Given the description of an element on the screen output the (x, y) to click on. 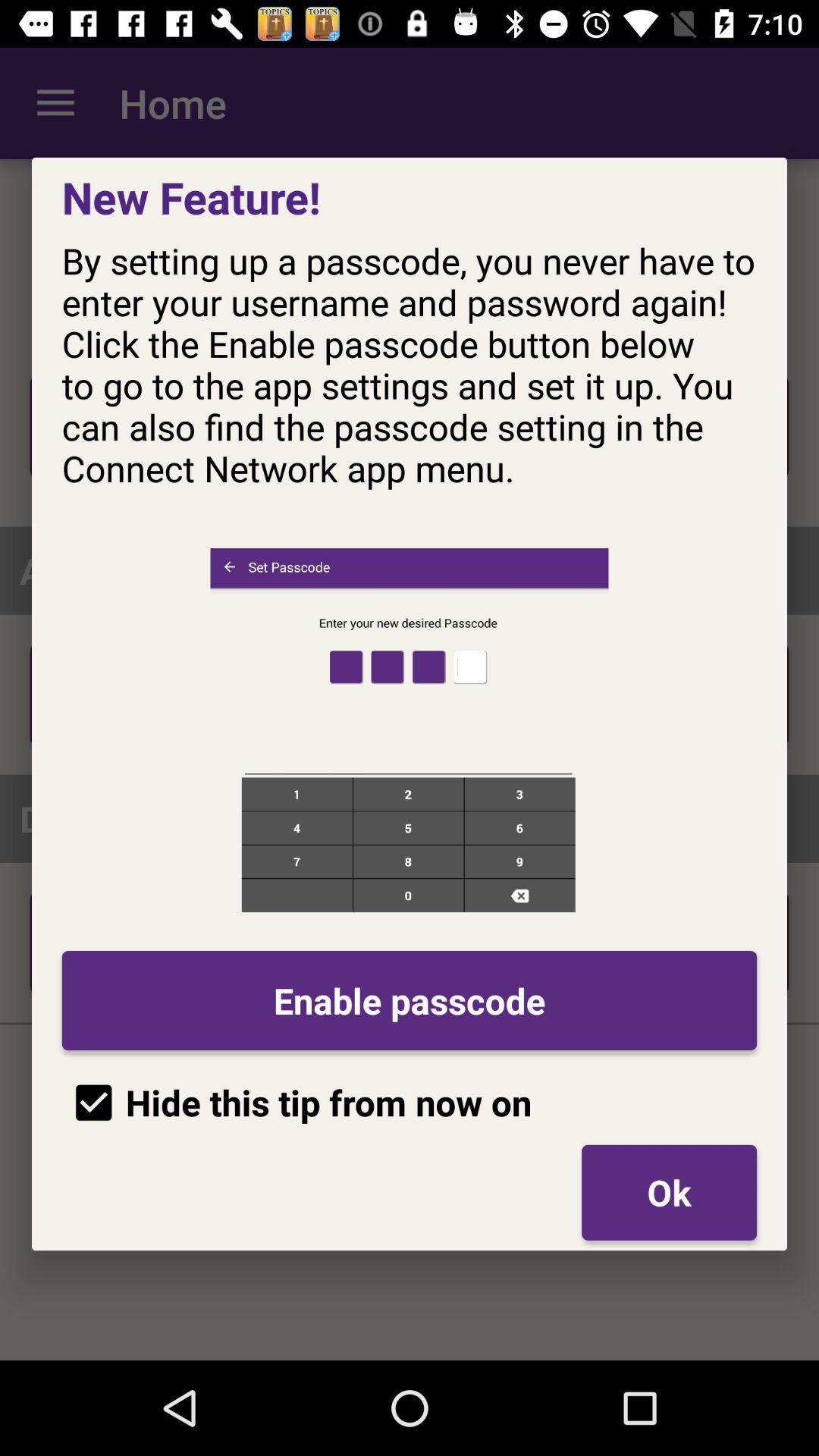
press the item next to the hide this tip item (669, 1192)
